Given the description of an element on the screen output the (x, y) to click on. 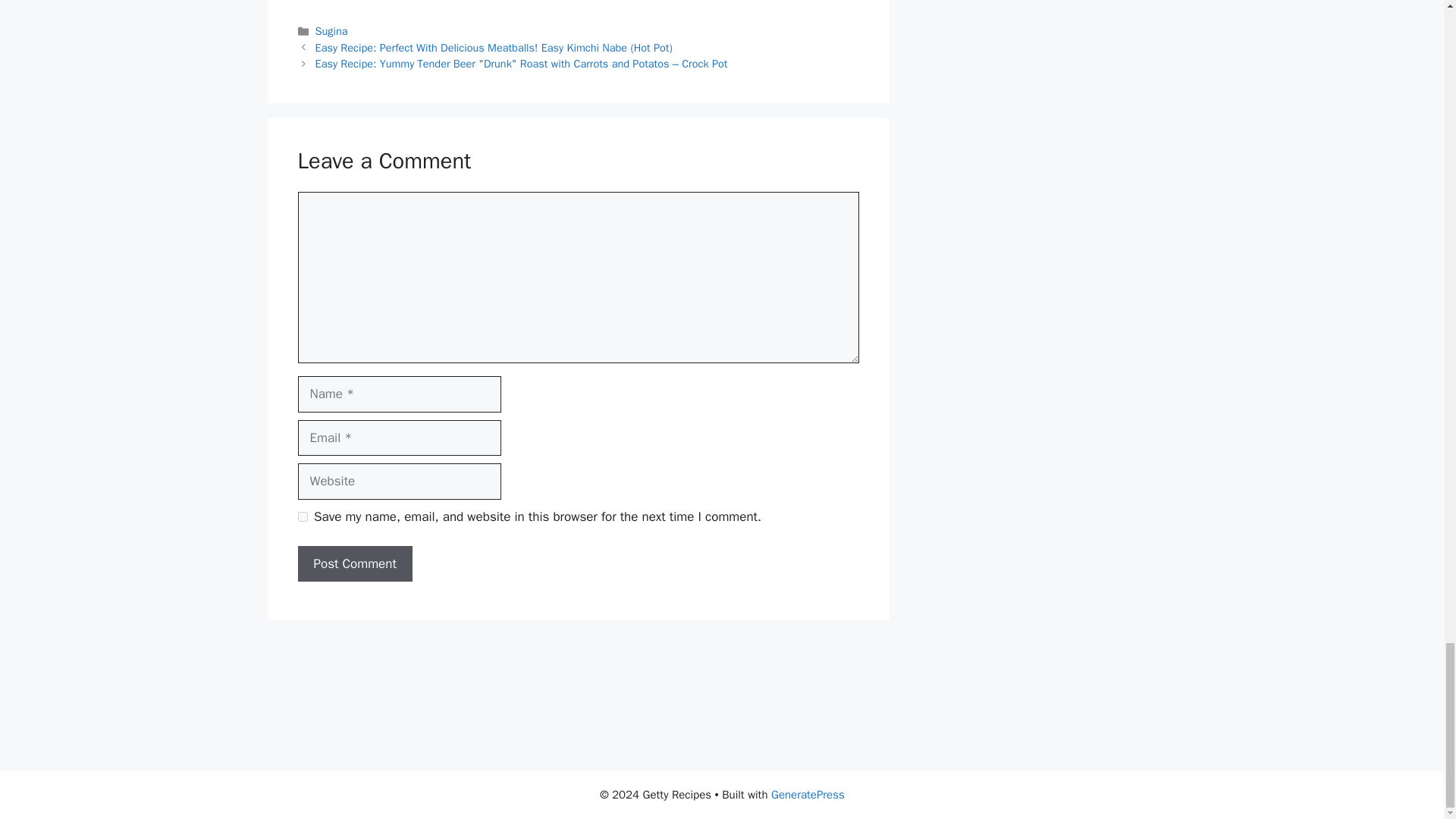
Post Comment (354, 564)
Post Comment (354, 564)
yes (302, 516)
Sugina (331, 30)
